Given the description of an element on the screen output the (x, y) to click on. 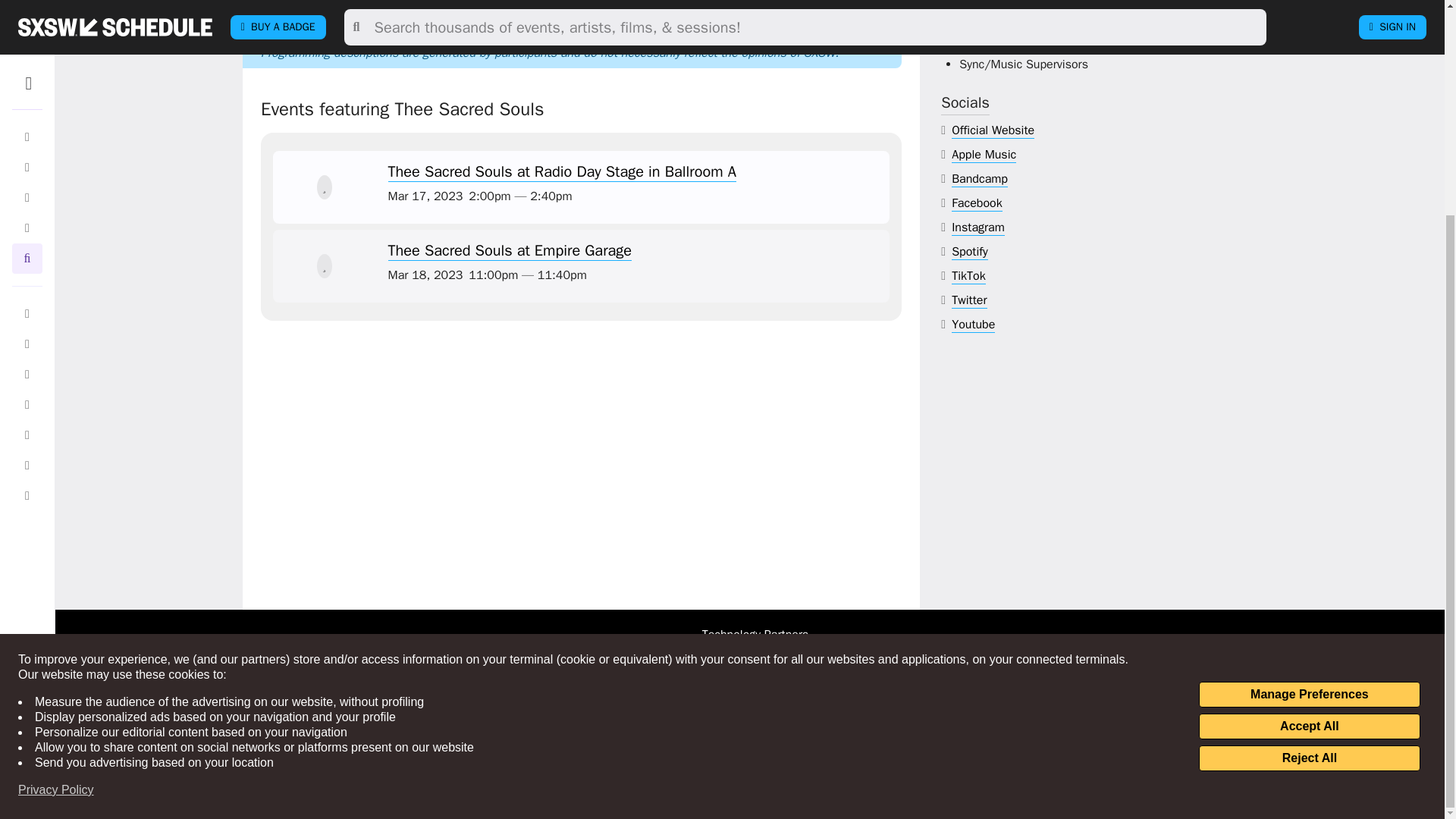
facebook (976, 203)
Accept All (1309, 444)
Manage Preferences (1309, 412)
bandcamp (979, 179)
Sign In to add to your favorites. (324, 265)
Privacy Policy (55, 507)
Reject All (1309, 475)
website (992, 130)
instagram (978, 227)
Sign In to add to your favorites. (324, 187)
apple (984, 154)
